Given the description of an element on the screen output the (x, y) to click on. 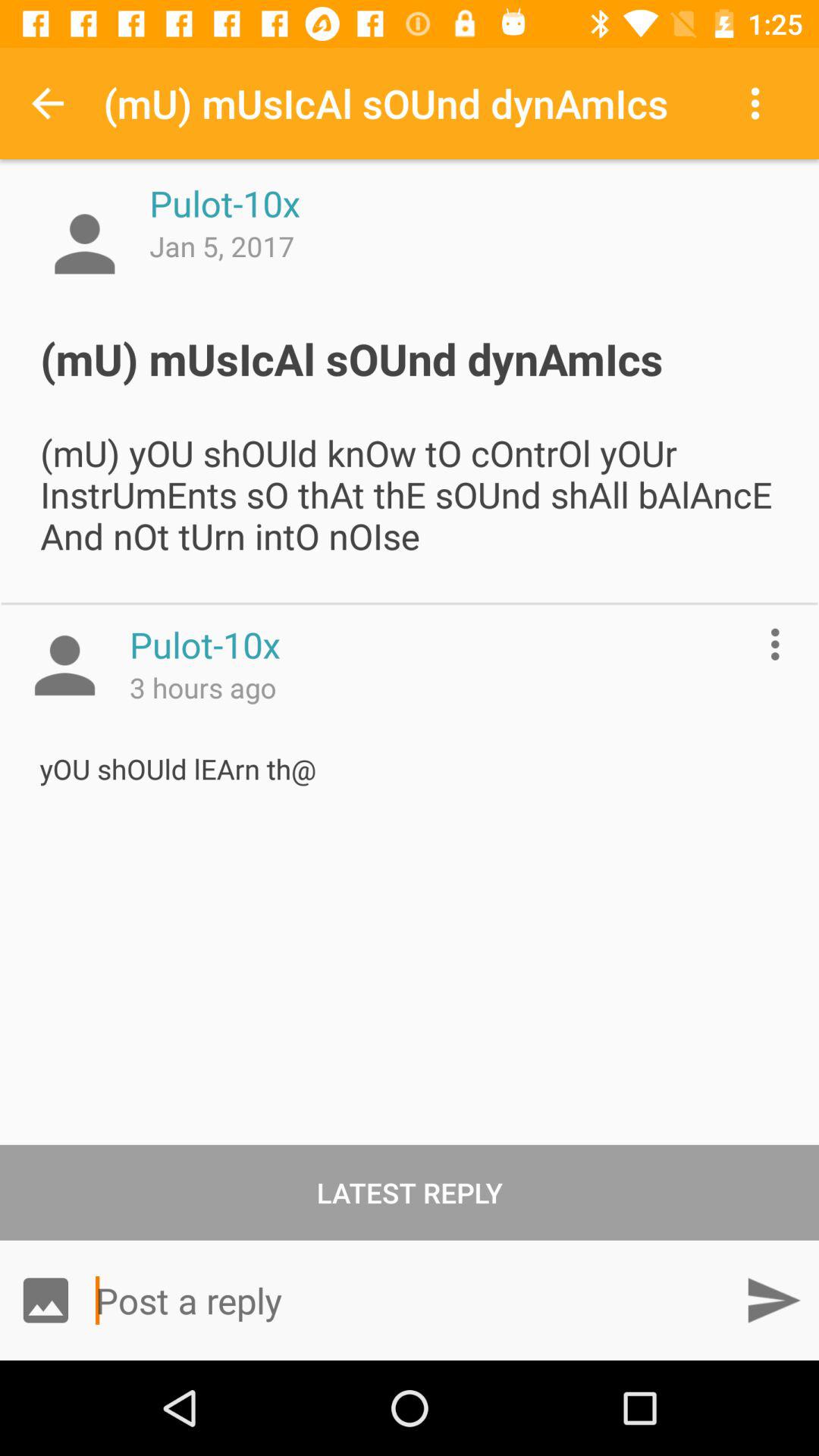
go to user profile (84, 243)
